Given the description of an element on the screen output the (x, y) to click on. 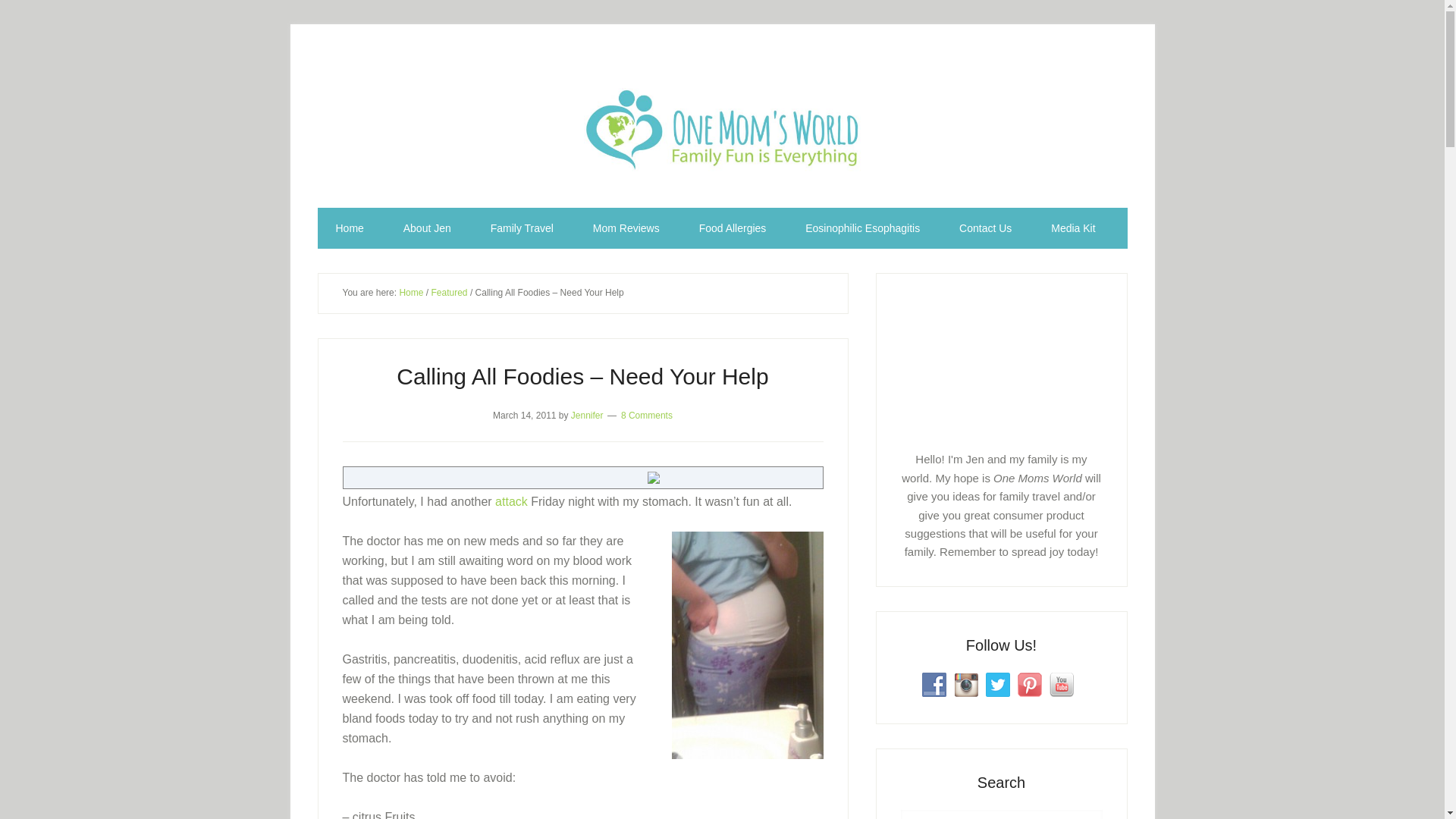
Follow Us on Instagram (965, 684)
Home (410, 292)
Family Travel (521, 228)
Jennifer (587, 414)
8 Comments (646, 414)
Follow Us on Twitter (997, 684)
attack (511, 501)
Eosinophilic Esophagitis (862, 228)
Follow Us on Facebook (933, 684)
Follow Us on Pinterest (1029, 684)
